Given the description of an element on the screen output the (x, y) to click on. 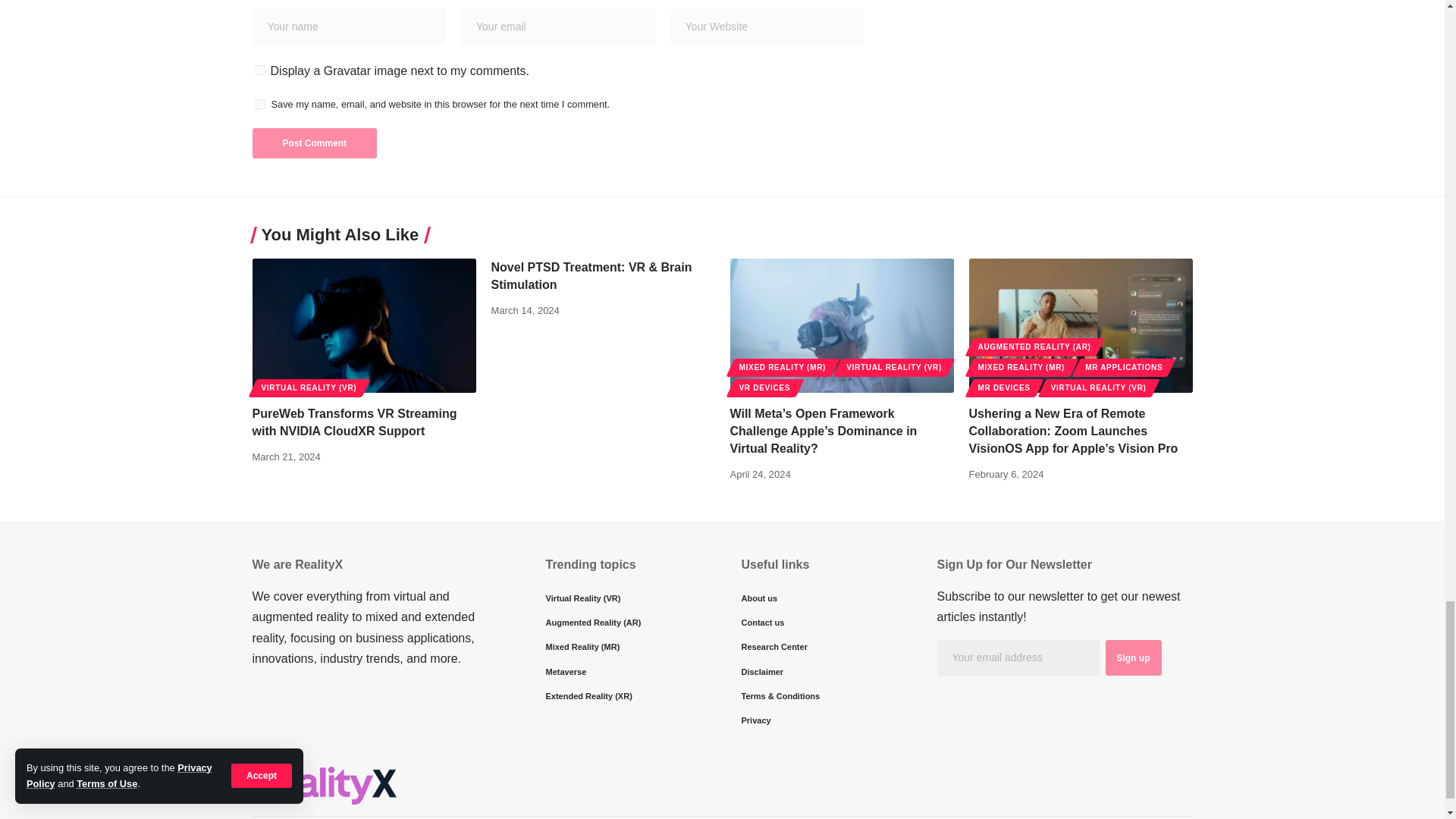
PureWeb Transforms VR Streaming with NVIDIA CloudXR Support (363, 325)
yes (259, 103)
true (259, 70)
Reality X (323, 785)
Sign up (1133, 657)
Post Comment (314, 142)
